Given the description of an element on the screen output the (x, y) to click on. 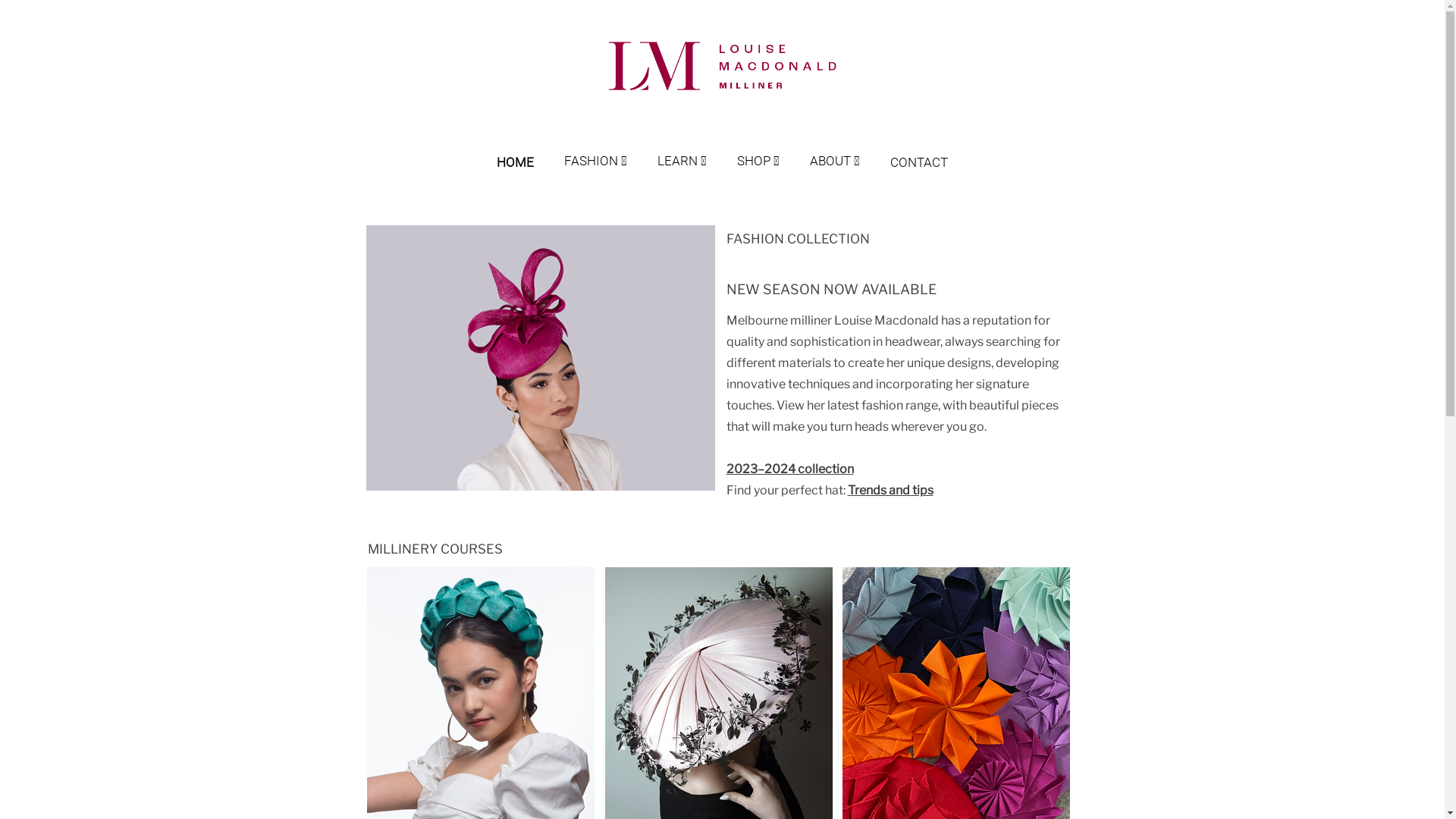
Louise Macdonald Milliner (Melbourne, Australia) | Home page Element type: hover (721, 90)
Louise Macdonald Milliner (Melbourne, Australia) | Home page Element type: hover (721, 65)
HOME Element type: text (530, 147)
CONTACT Element type: text (918, 147)
NEW SEASON NOW AVAILABLE Element type: text (831, 289)
Trends and tips Element type: text (890, 490)
